Given the description of an element on the screen output the (x, y) to click on. 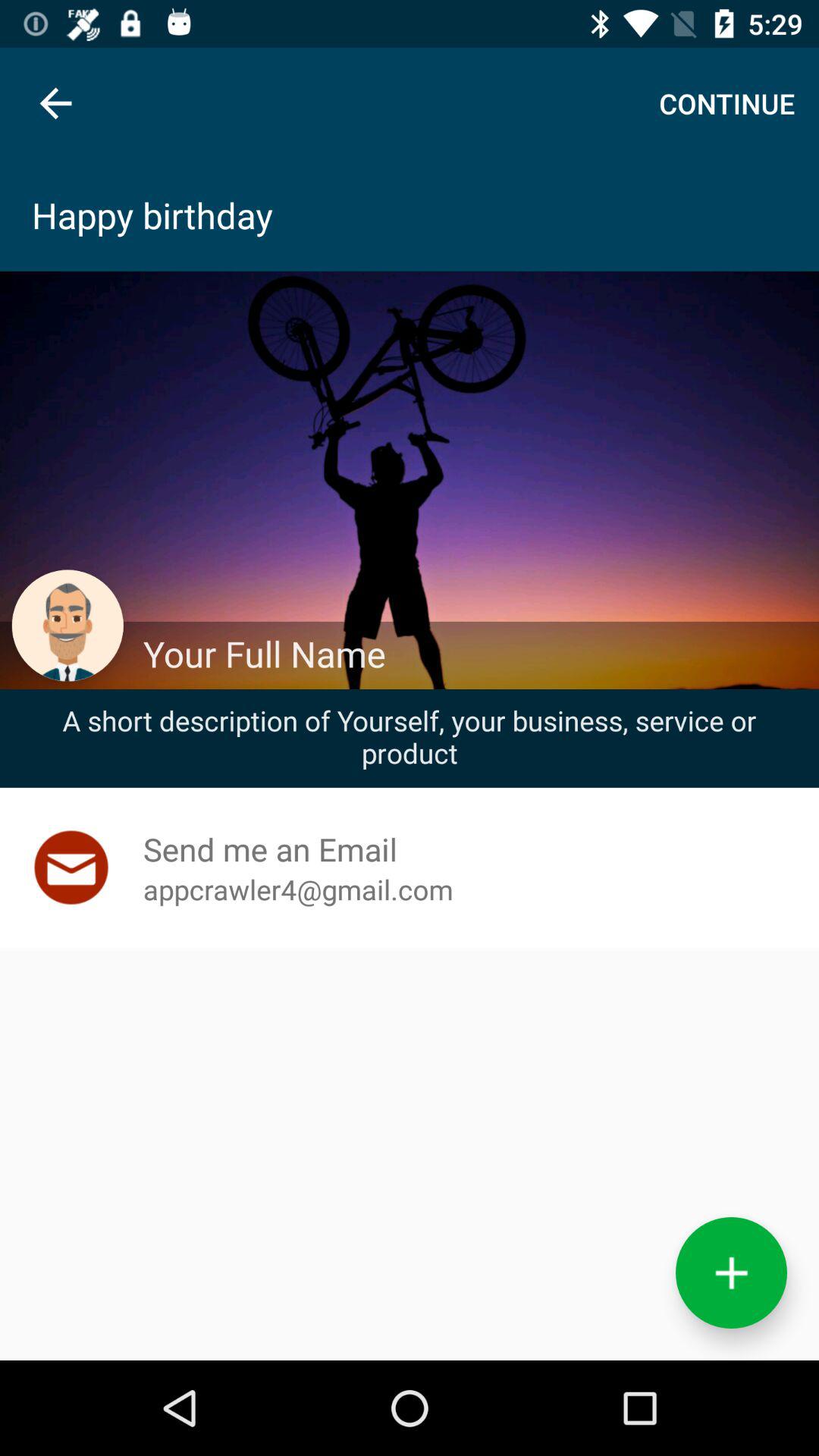
open the icon above a short description icon (473, 653)
